Given the description of an element on the screen output the (x, y) to click on. 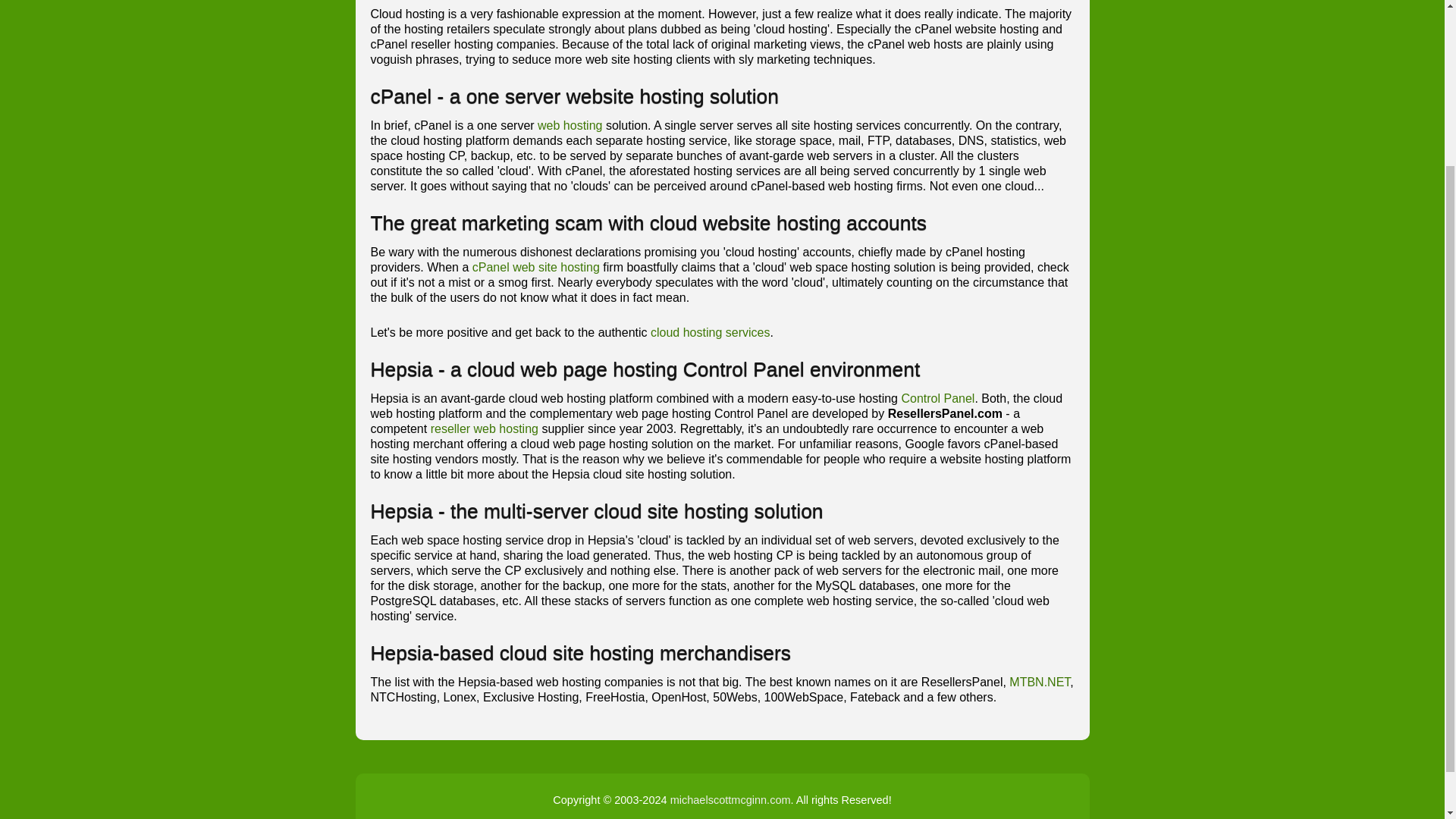
reseller web hosting (484, 428)
Control Panel (937, 398)
michaelscottmcginn.com (729, 799)
cloud hosting services (710, 332)
MTBN.NET (1039, 681)
cPanel web site hosting (535, 267)
web hosting (569, 124)
